Given the description of an element on the screen output the (x, y) to click on. 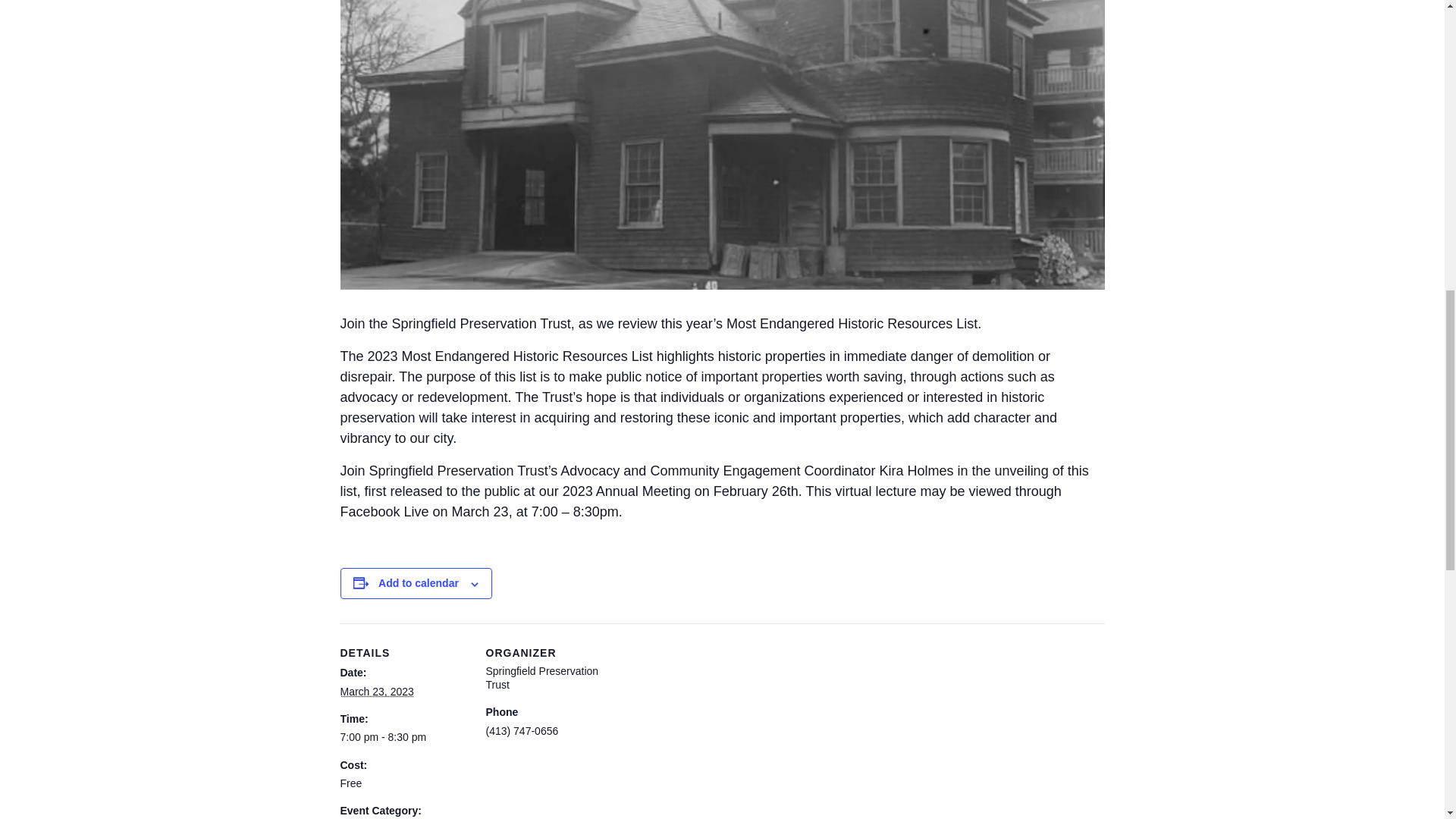
2023-03-23 (376, 691)
Add to calendar (418, 582)
2023-03-23 (403, 736)
